Given the description of an element on the screen output the (x, y) to click on. 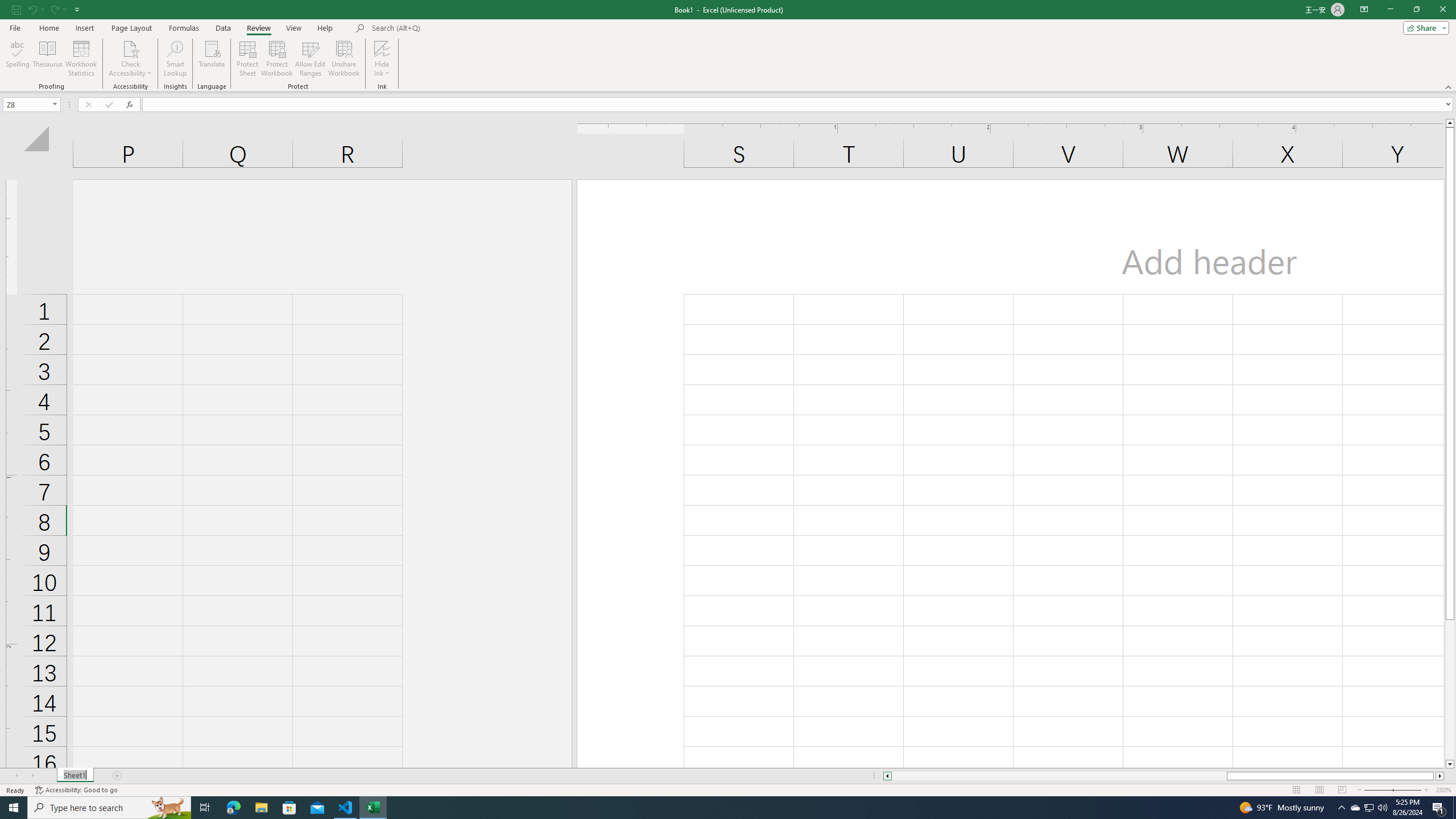
Hide Ink (381, 48)
Class: MsoCommandBar (728, 45)
Check Accessibility (129, 58)
Smart Lookup (175, 58)
Hide Ink (381, 58)
